Given the description of an element on the screen output the (x, y) to click on. 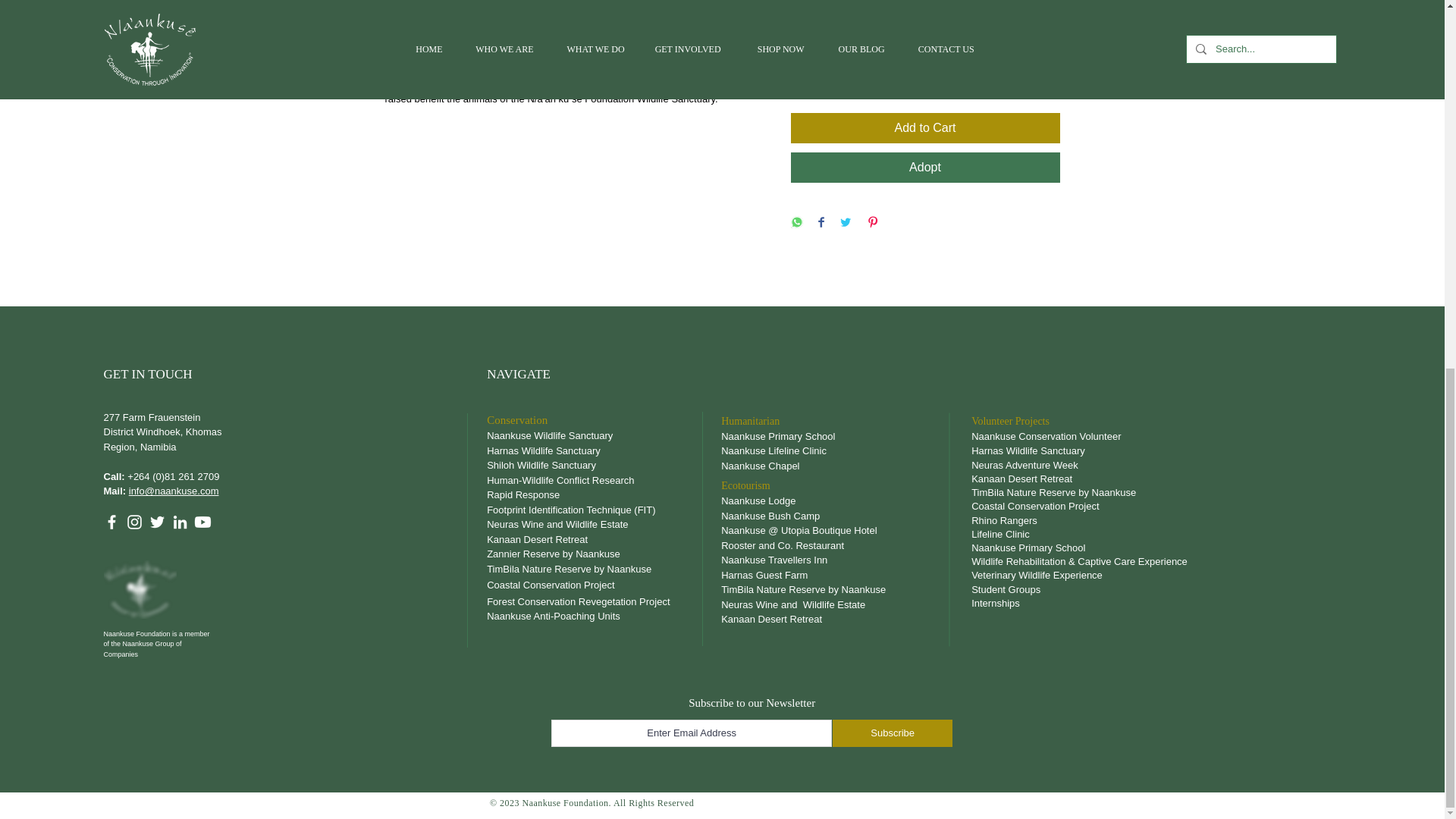
Add to Cart (924, 128)
Naankuse Wildlife Sanctuary (549, 435)
Conservation (516, 419)
 Conflict Research (593, 480)
Harnas Wildlife Sanctuary  (544, 450)
Human-Wildlife (519, 480)
Adopt (924, 167)
Neuras Wine and Wildlife Estate  (558, 523)
1 (818, 73)
Zannier Reserve by Naankuse (553, 553)
Shiloh Wildlife Sanctuary (540, 464)
Kanaan Desert Retreat  (538, 539)
Naankuse Foundation Wildlife Sanctuary (924, 11)
Rapid Response (522, 494)
